Given the description of an element on the screen output the (x, y) to click on. 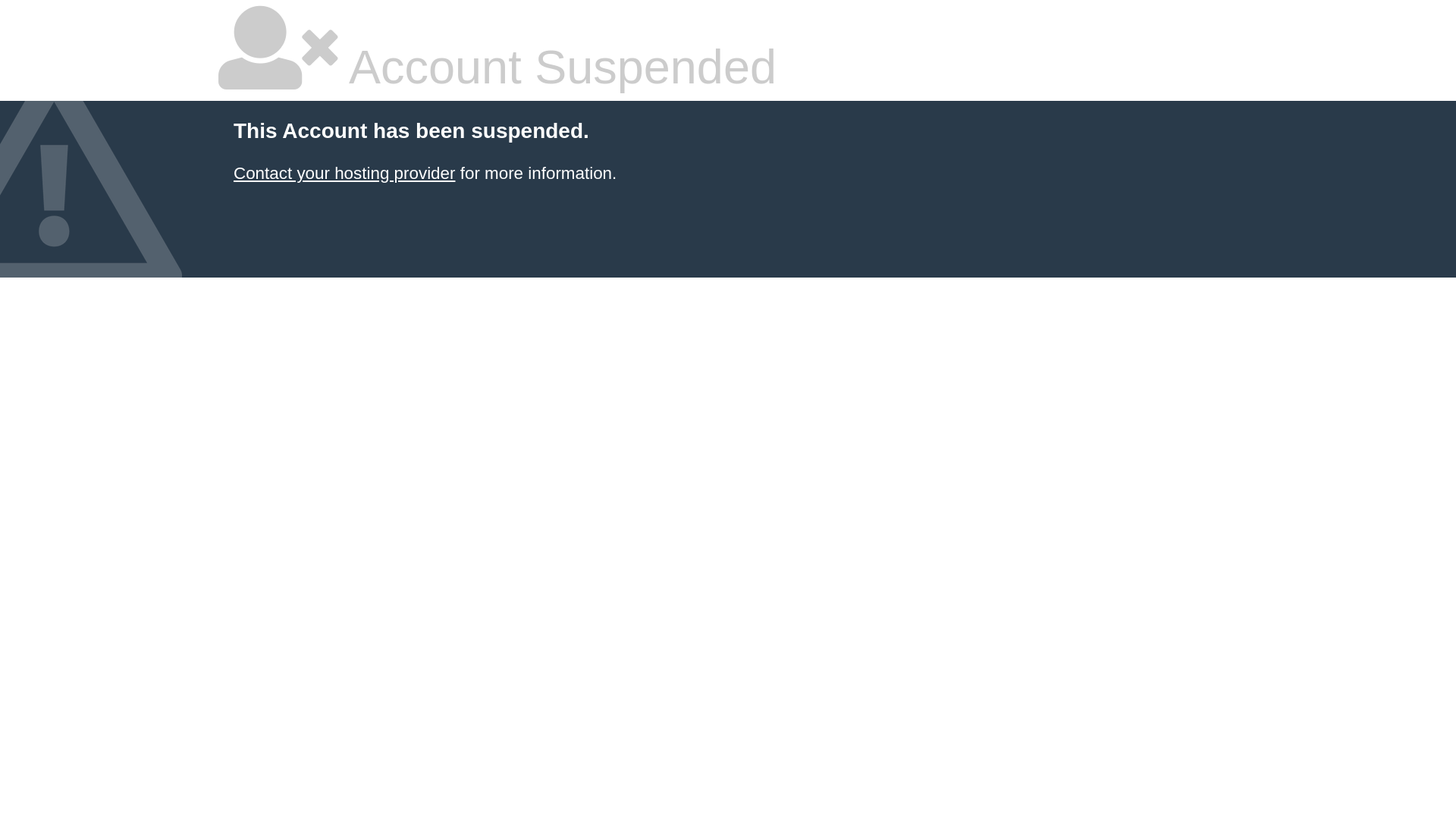
Contact your hosting provider Element type: text (344, 172)
